Given the description of an element on the screen output the (x, y) to click on. 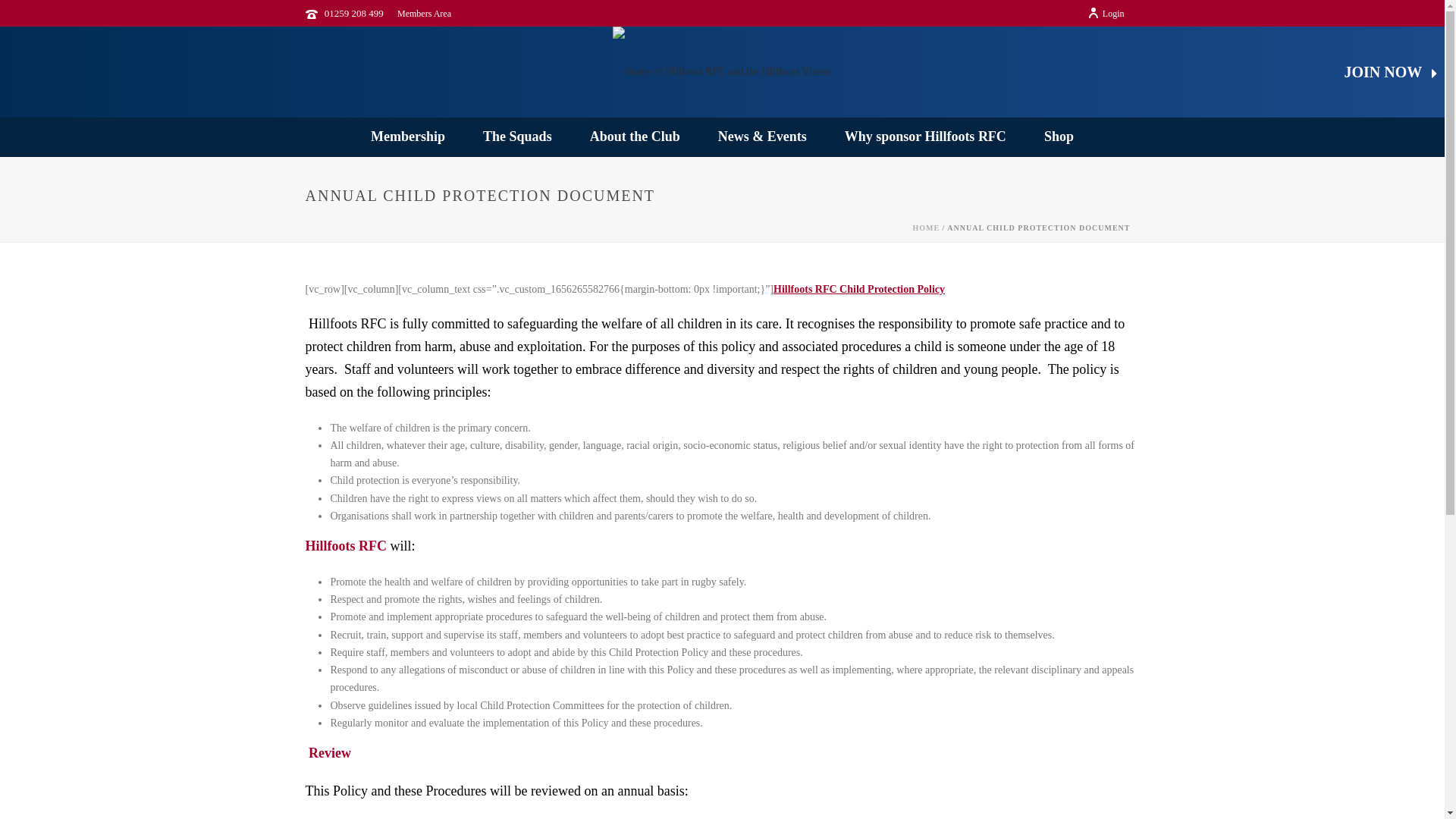
The Squads (517, 136)
About the Club (634, 136)
Why sponsor Hillfoots RFC (925, 136)
01259 208 499 (354, 12)
Membership (408, 136)
About the Club (634, 136)
Members Area (424, 13)
Membership (408, 136)
Login (1105, 13)
Why sponsor Hillfoots RFC (925, 136)
